Given the description of an element on the screen output the (x, y) to click on. 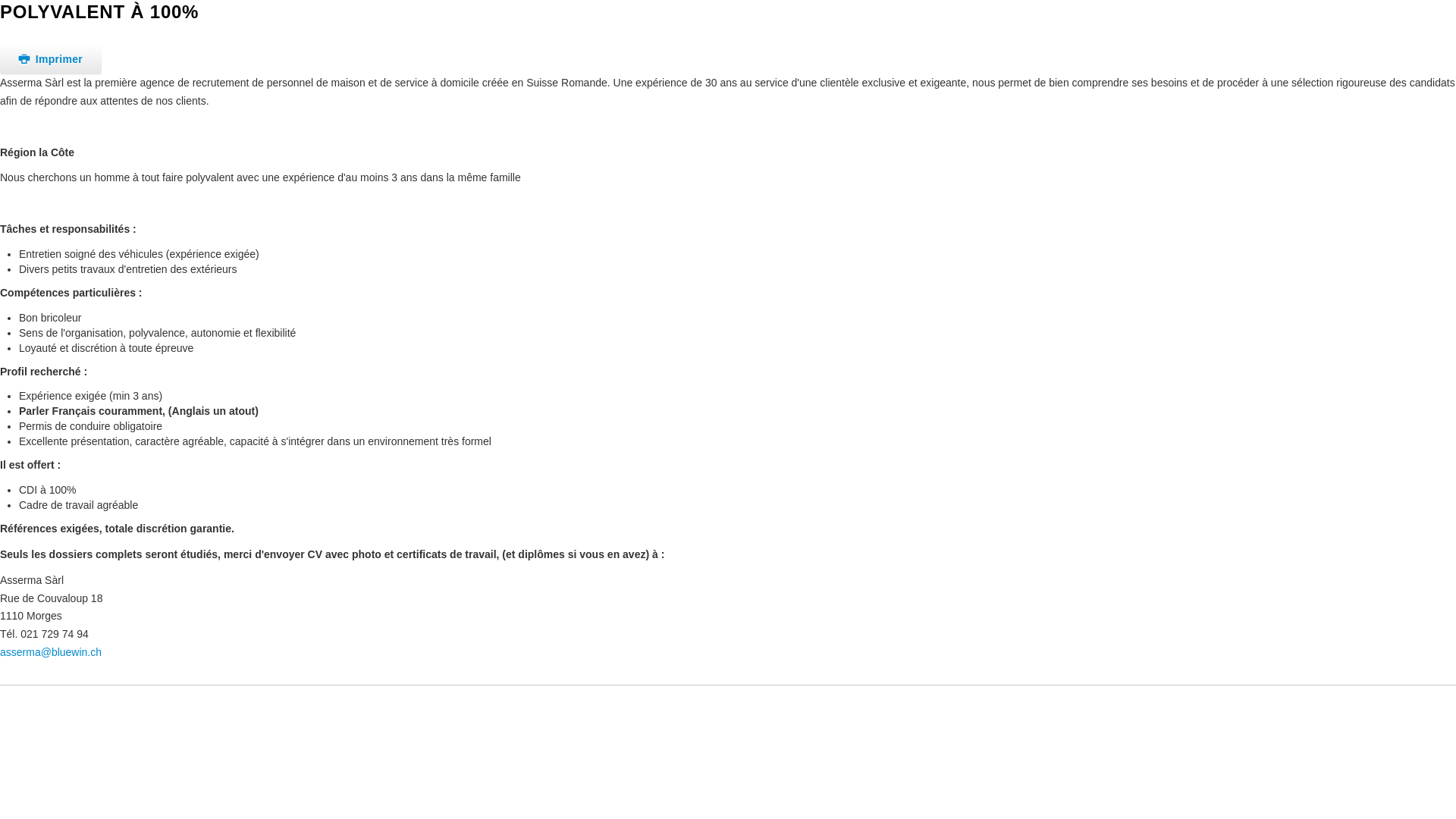
asserma@bluewin.ch Element type: text (50, 652)
Imprimer Element type: text (50, 59)
